Given the description of an element on the screen output the (x, y) to click on. 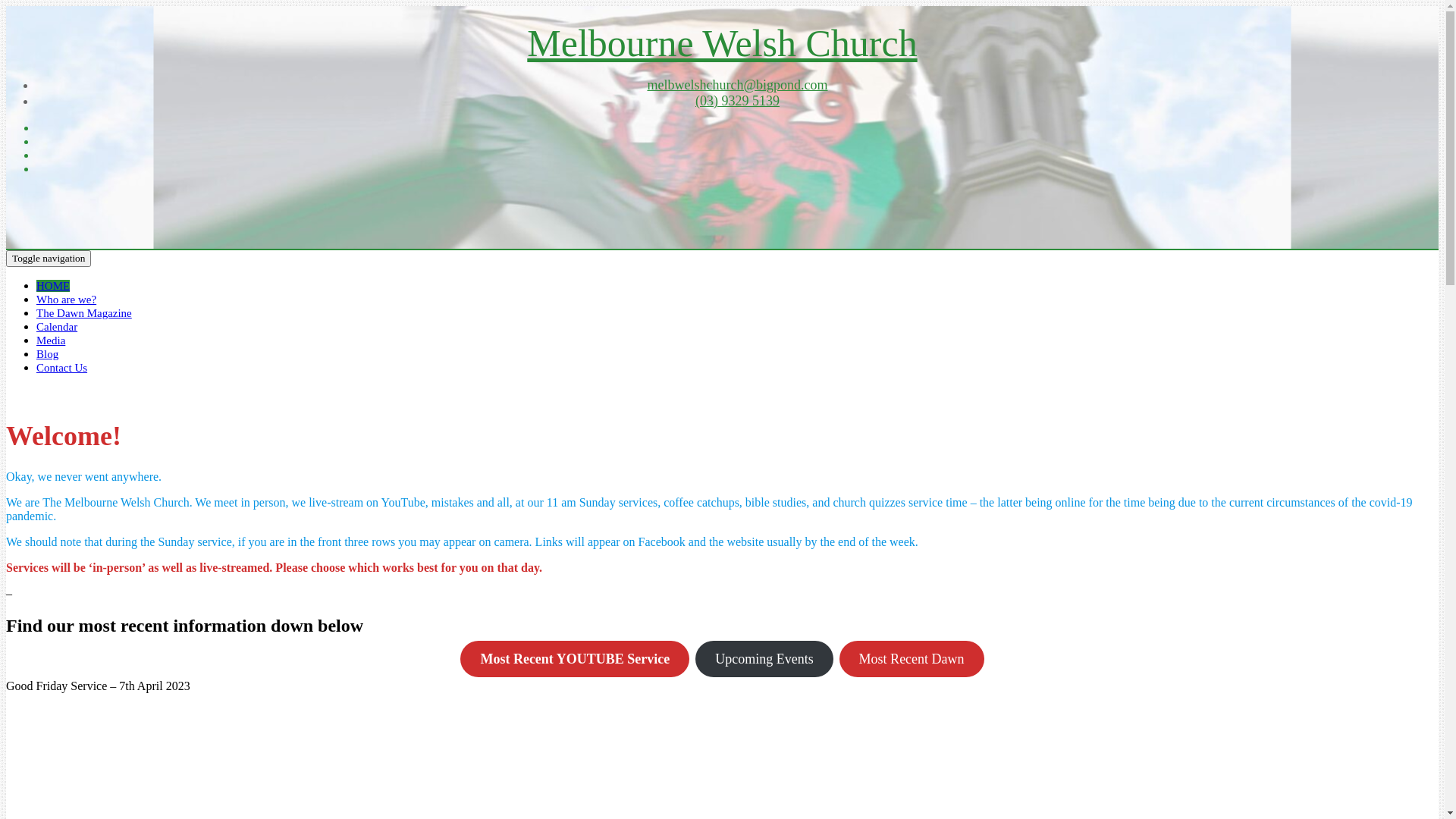
(03) 9329 5139 Element type: text (737, 100)
melbwelshchurch@bigpond.com Element type: text (736, 84)
Melbourne Welsh Church Element type: text (721, 42)
Media Element type: text (50, 340)
Upcoming Events Element type: text (763, 658)
Most Recent YOUTUBE Service Element type: text (574, 658)
Blog Element type: text (47, 354)
Youtube Element type: hover (737, 155)
The Dawn Magazine Element type: text (83, 313)
Instagram Element type: hover (737, 168)
Toggle navigation Element type: text (48, 258)
Who are we? Element type: text (66, 299)
Facebook Element type: hover (737, 127)
HOME Element type: text (52, 285)
Twiiter Element type: hover (737, 141)
Most Recent Dawn Element type: text (911, 658)
Contact Us Element type: text (61, 367)
Calendar Element type: text (56, 326)
